Given the description of an element on the screen output the (x, y) to click on. 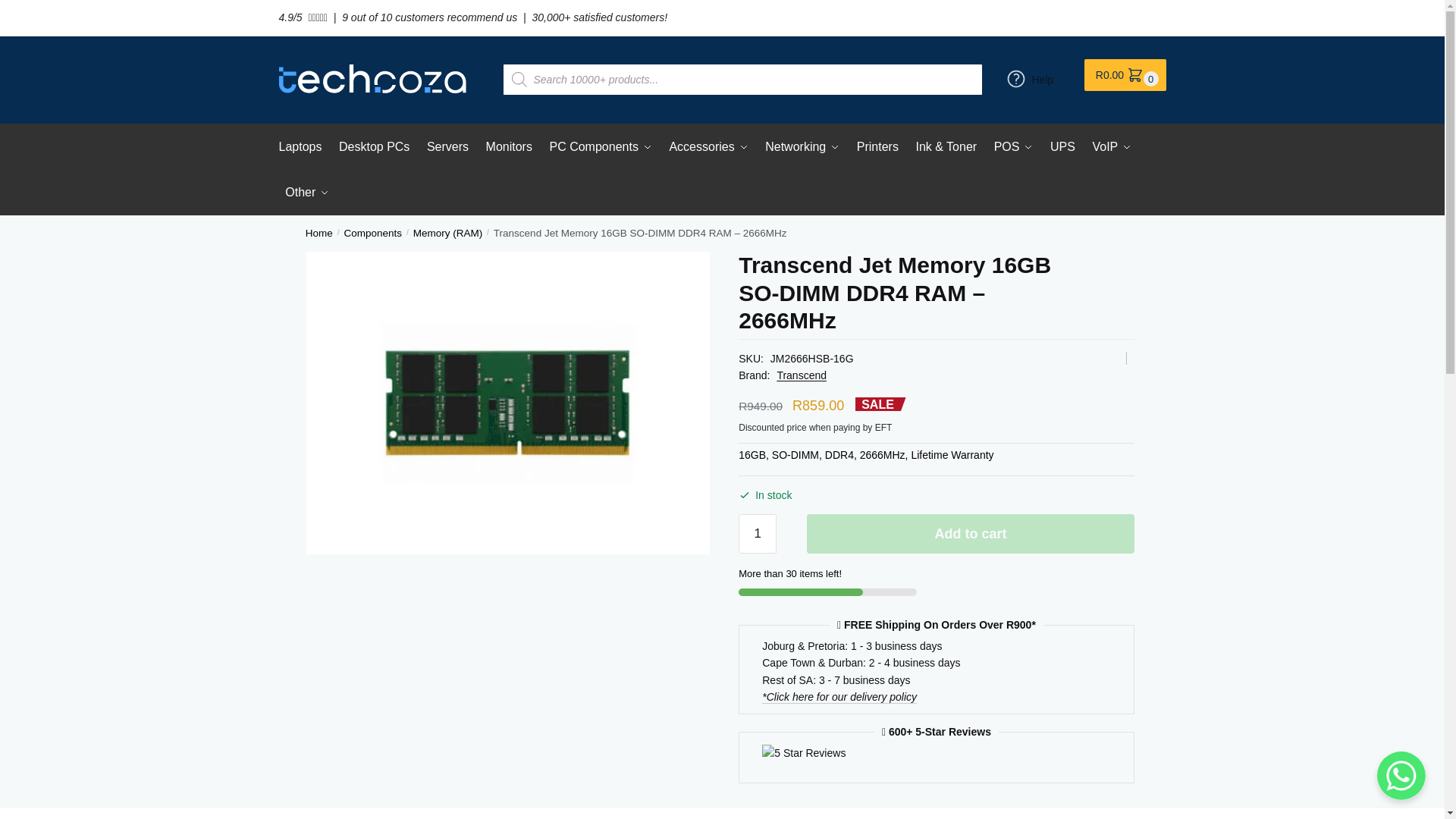
1 (757, 533)
Networking (801, 146)
Servers (448, 146)
R0.00 0 (1125, 74)
PC Components (601, 146)
Monitors (508, 146)
View your shopping cart (1125, 74)
Help (1034, 79)
click to zoom-in (507, 402)
Accessories (708, 146)
